Given the description of an element on the screen output the (x, y) to click on. 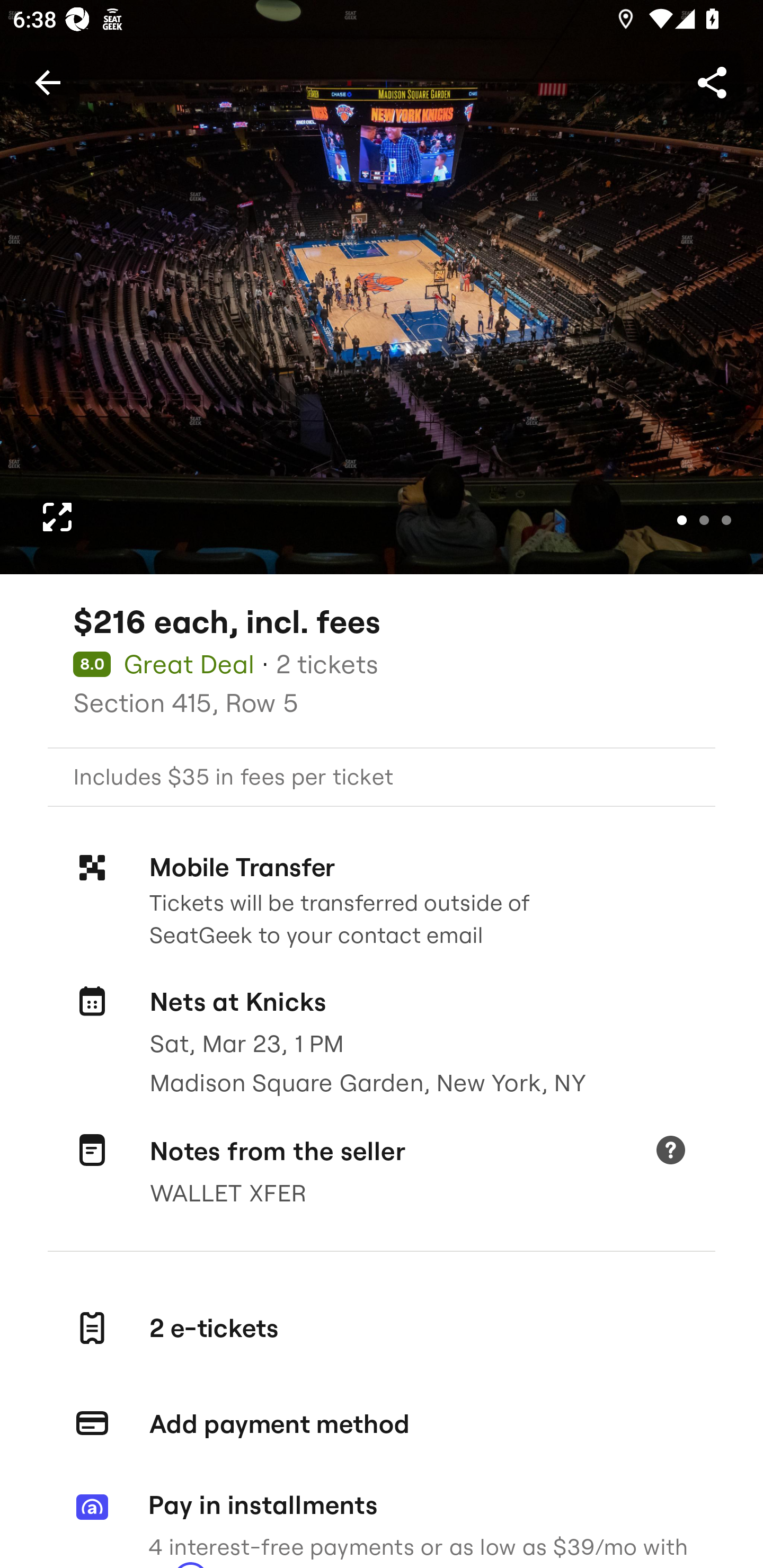
Back (47, 81)
Share (711, 81)
Expand image to fullscreen (57, 517)
Learn more (670, 1151)
2 e-tickets (381, 1328)
Add payment method (381, 1424)
